Given the description of an element on the screen output the (x, y) to click on. 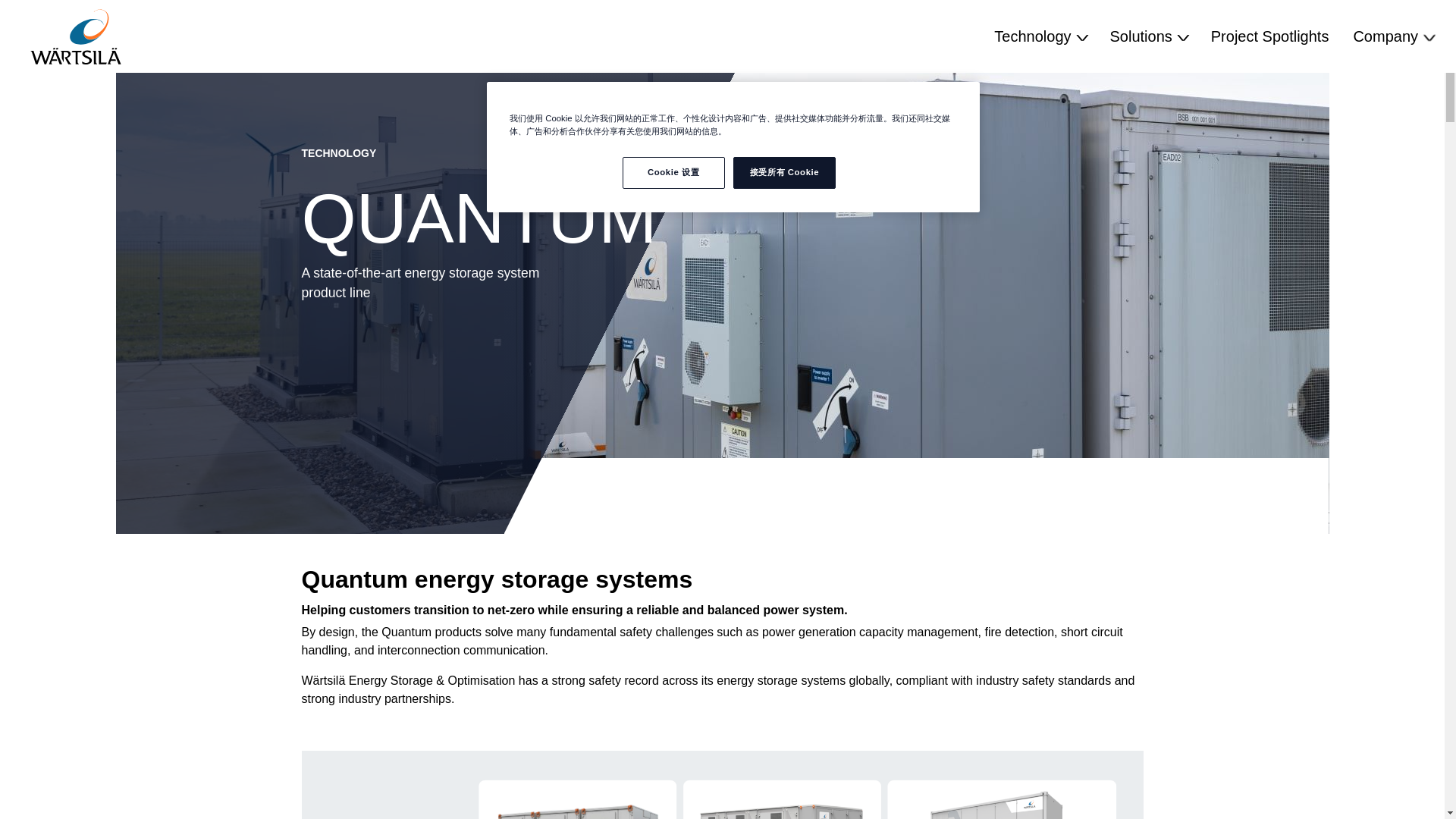
Company (1392, 36)
Technology (1039, 36)
Solutions (1147, 36)
Project Spotlights (1270, 36)
